Given the description of an element on the screen output the (x, y) to click on. 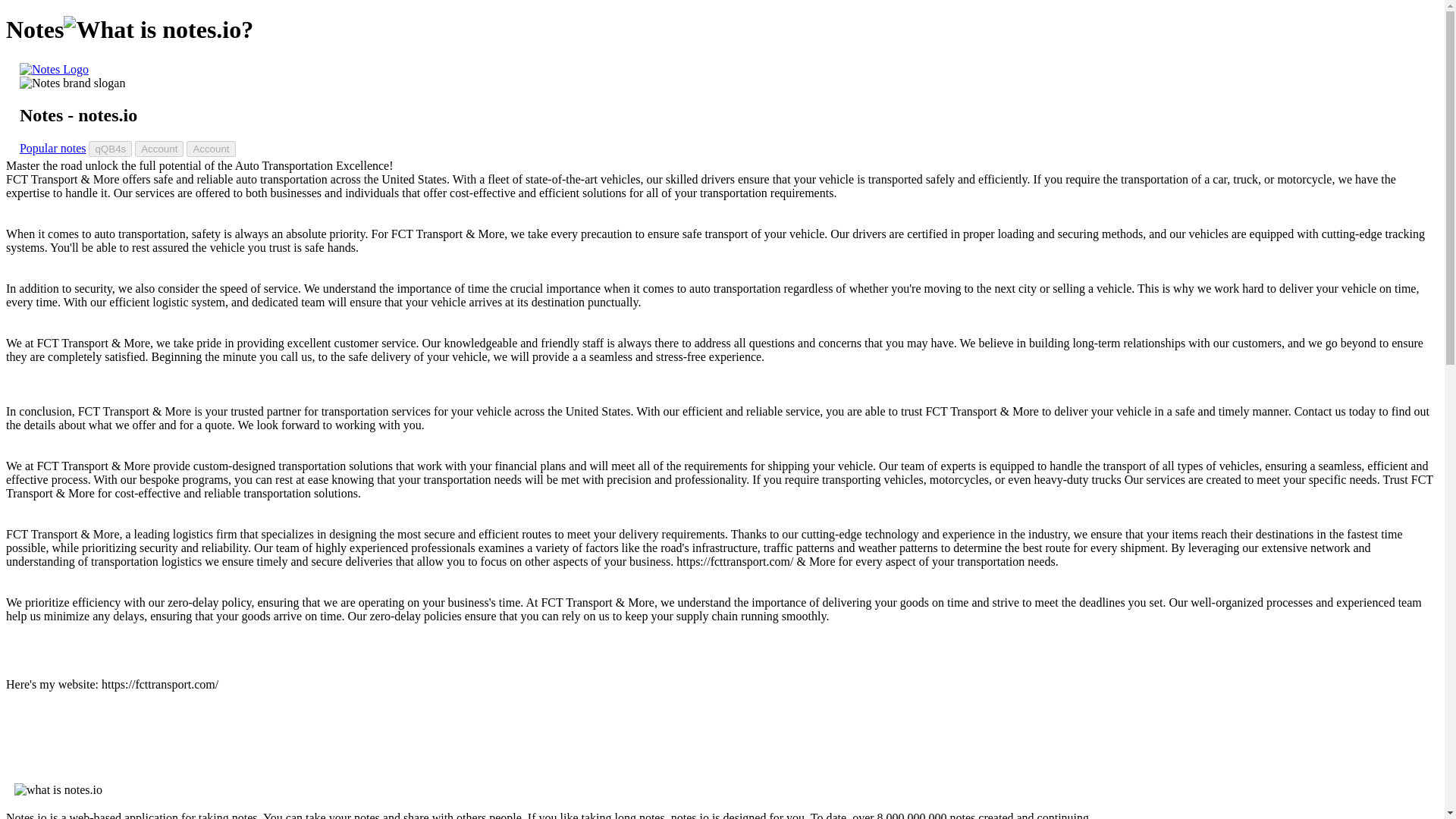
Account (210, 148)
qQB4s (110, 148)
Fast, easy and short (72, 83)
Account (159, 148)
notes (54, 69)
Popular notes (52, 147)
Notes (54, 69)
what is notes.io? (158, 29)
